Given the description of an element on the screen output the (x, y) to click on. 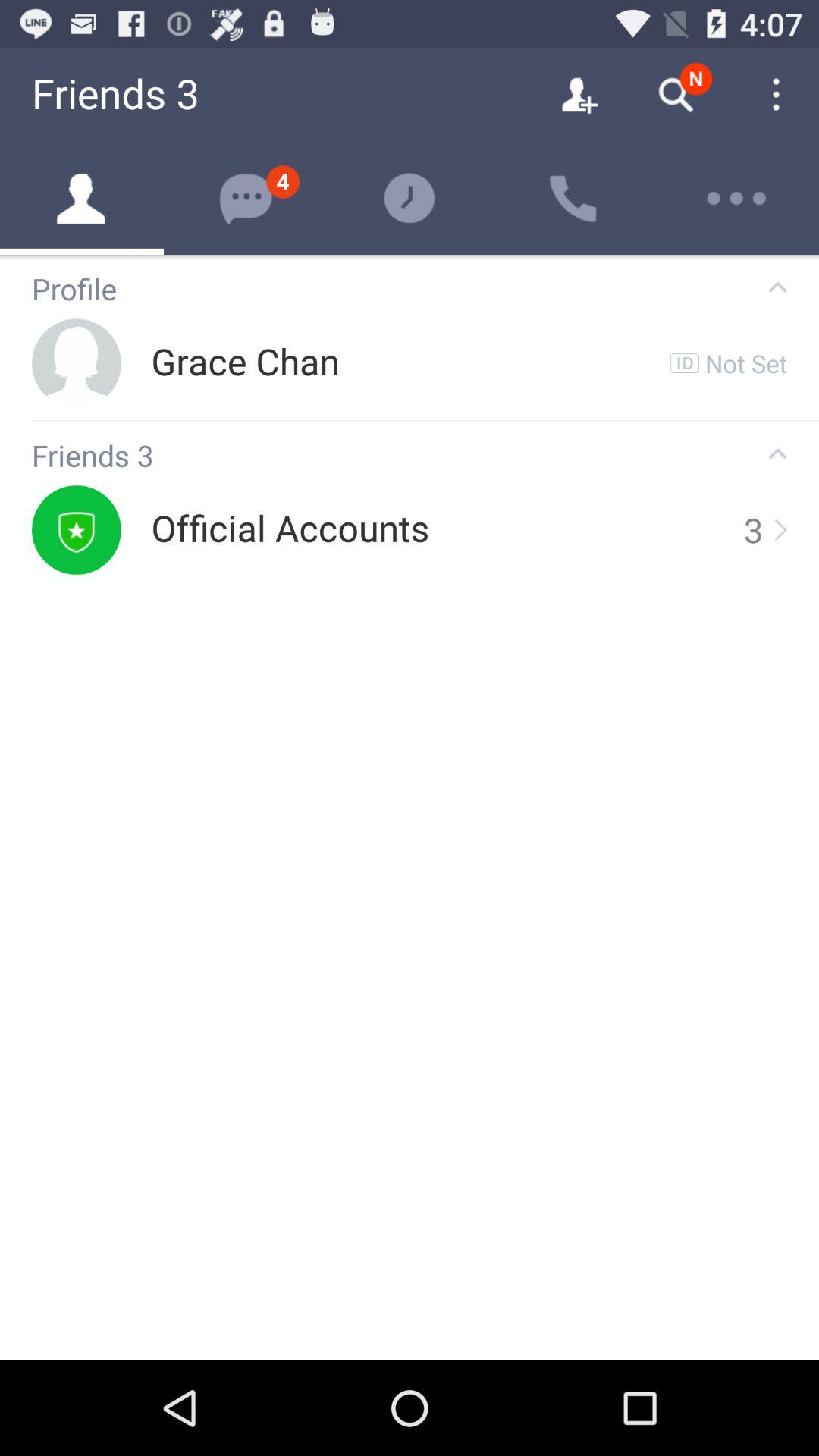
choose icon next to 3 app (290, 529)
